Given the description of an element on the screen output the (x, y) to click on. 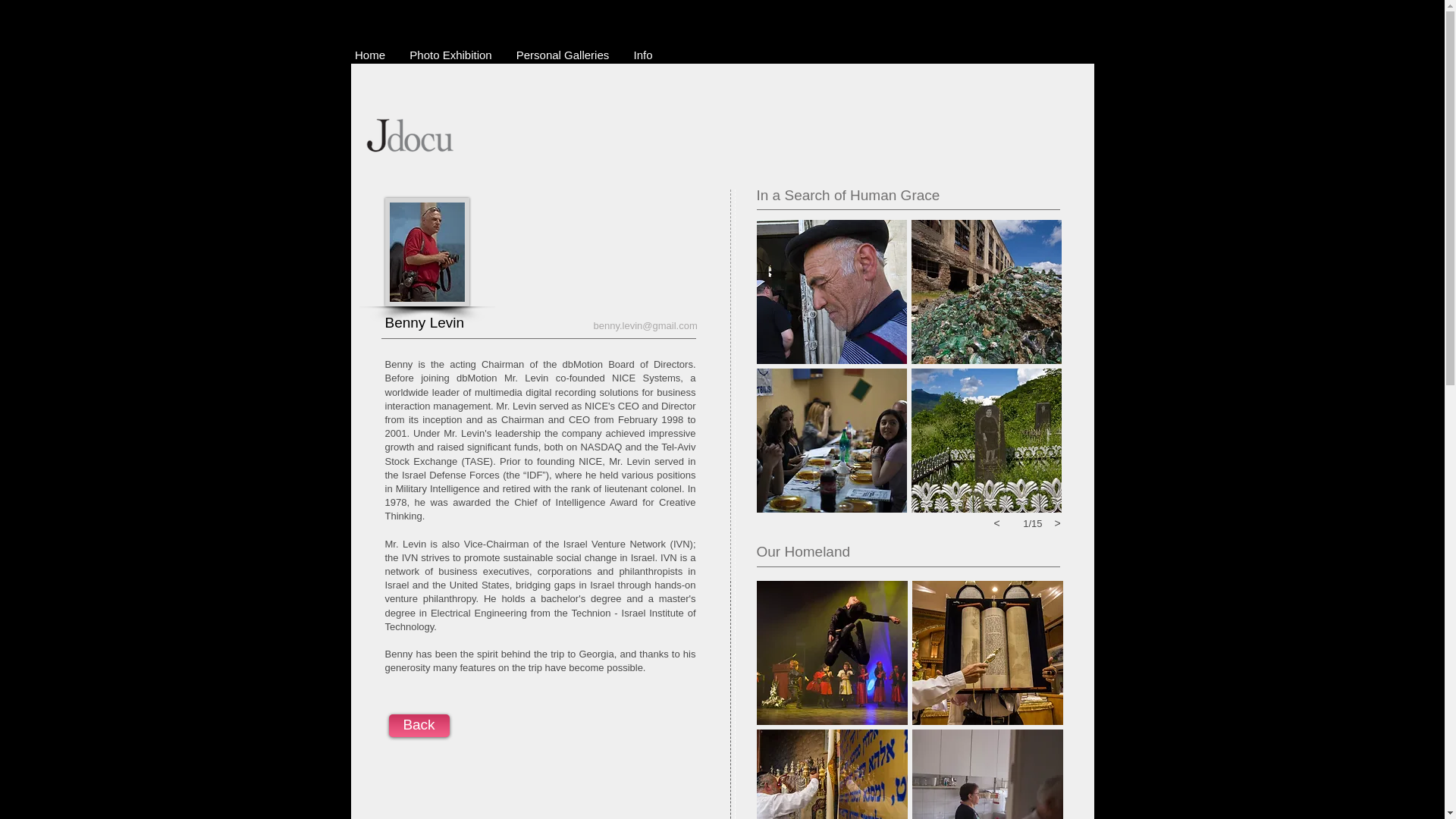
Photo Exhibition (450, 55)
Back (418, 725)
Personal Galleries (562, 55)
Home (369, 55)
Info (643, 55)
